Given the description of an element on the screen output the (x, y) to click on. 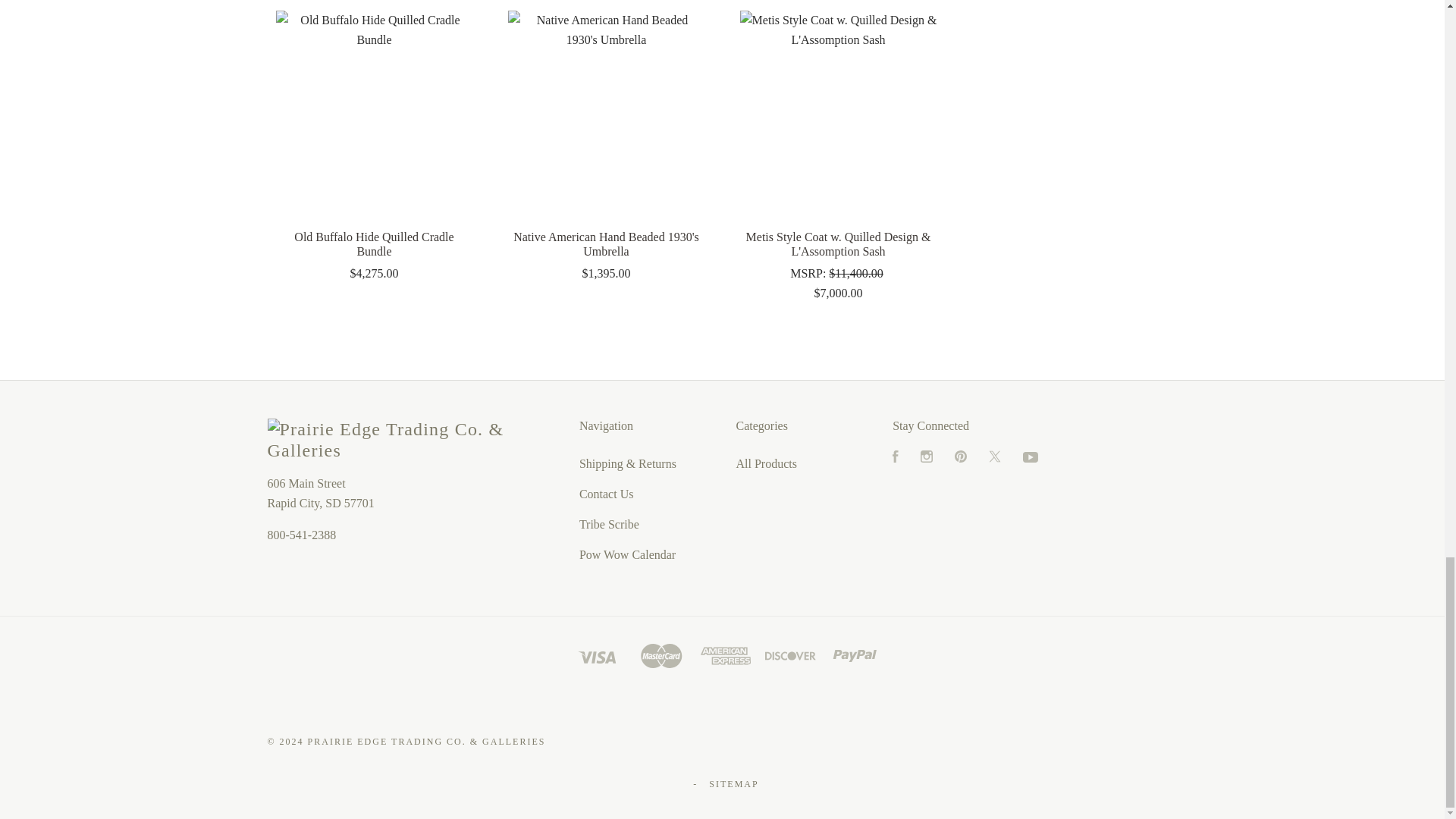
Old Buffalo Hide Quilled Cradle Bundle (374, 109)
instagram (926, 456)
pinterest (960, 456)
youtube (1030, 457)
Twitter (994, 458)
Pinterest (960, 458)
facebook (895, 456)
Facebook (895, 458)
Instagram (926, 458)
Native American Hand Beaded 1930's Umbrella (606, 109)
